Given the description of an element on the screen output the (x, y) to click on. 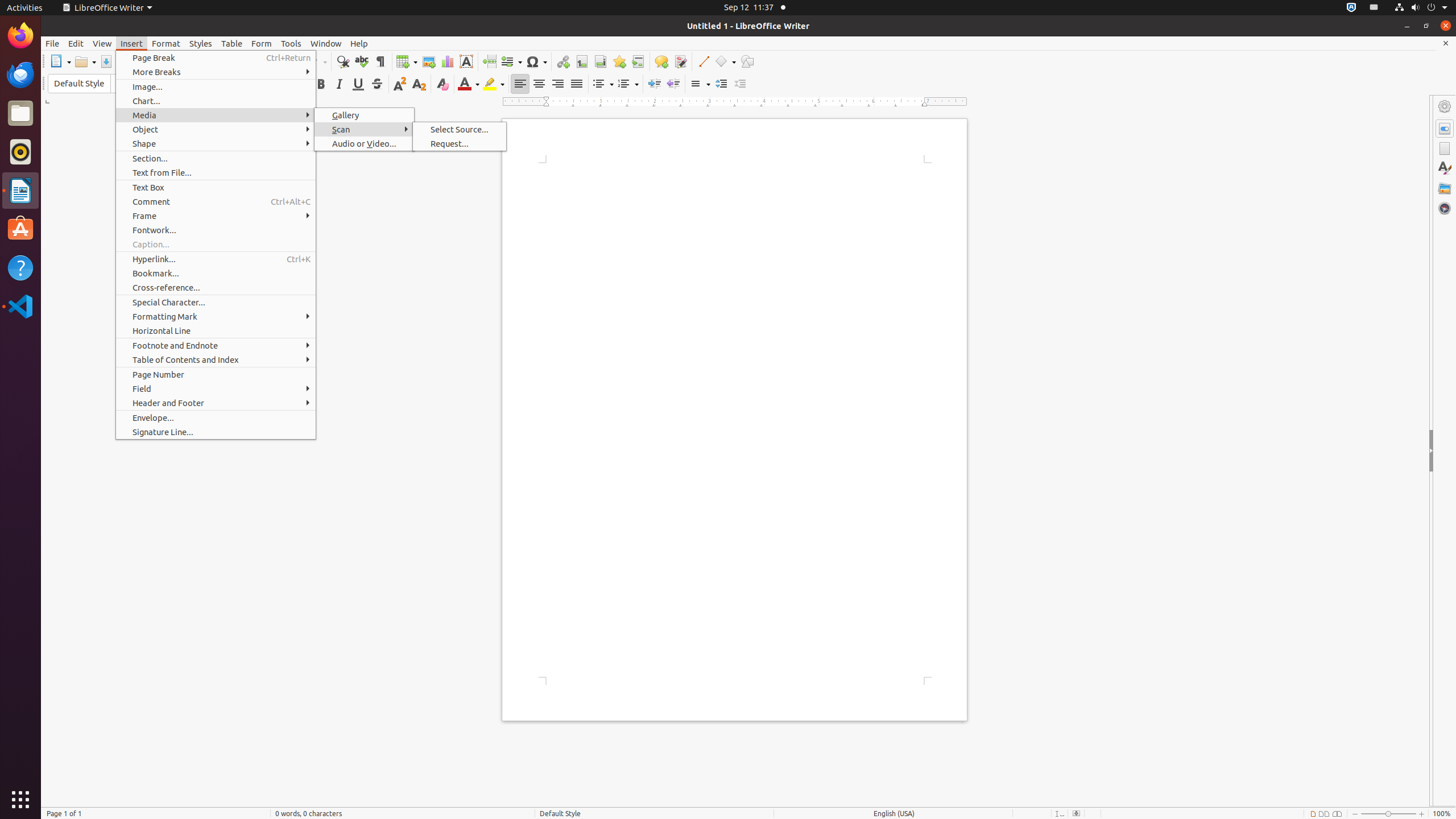
Basic Shapes Element type: push-button (724, 61)
Files Element type: push-button (20, 113)
Text from File... Element type: menu-item (215, 172)
Chart Element type: push-button (446, 61)
Image... Element type: menu-item (215, 86)
